Given the description of an element on the screen output the (x, y) to click on. 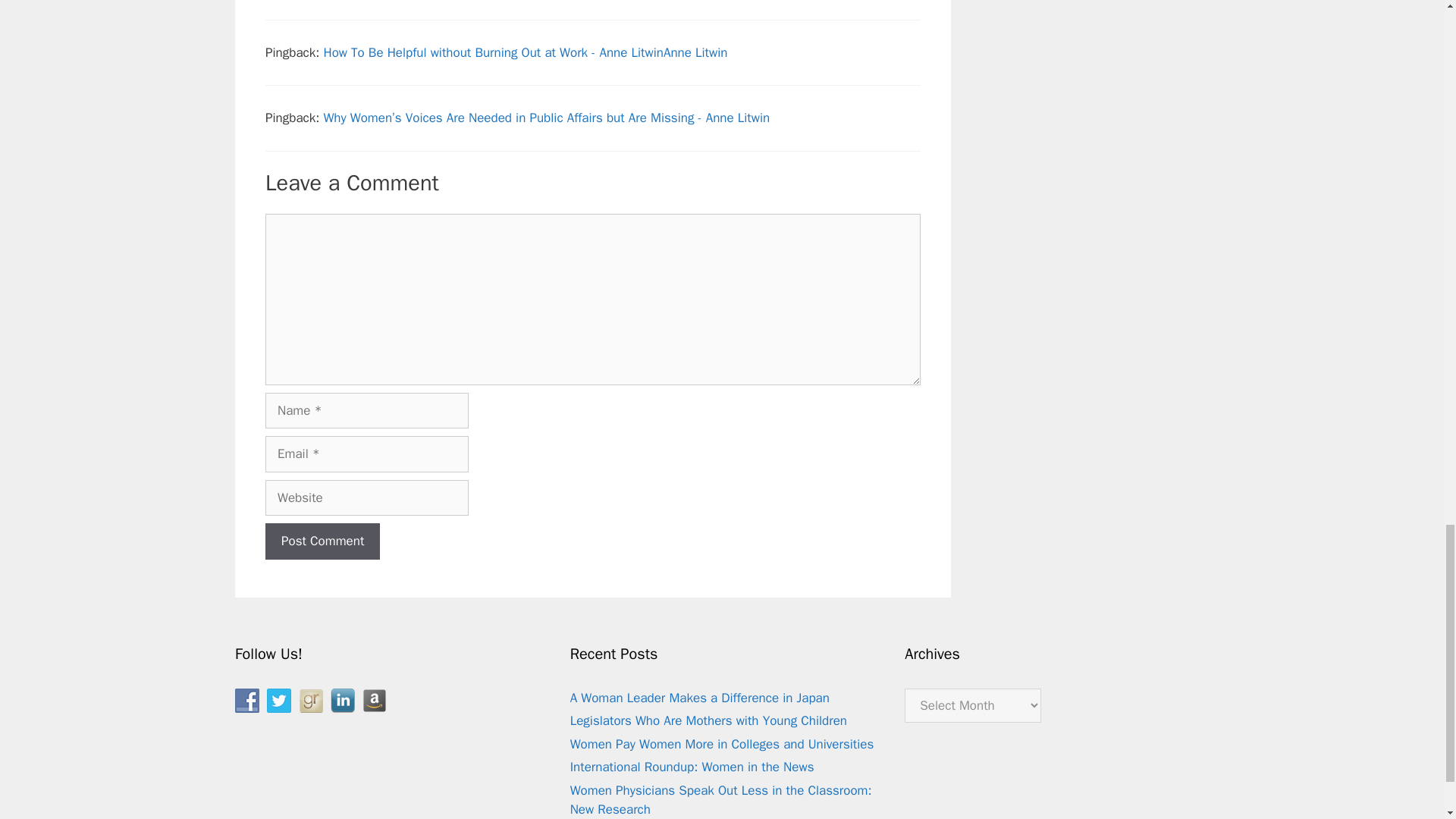
Post Comment (322, 541)
